Given the description of an element on the screen output the (x, y) to click on. 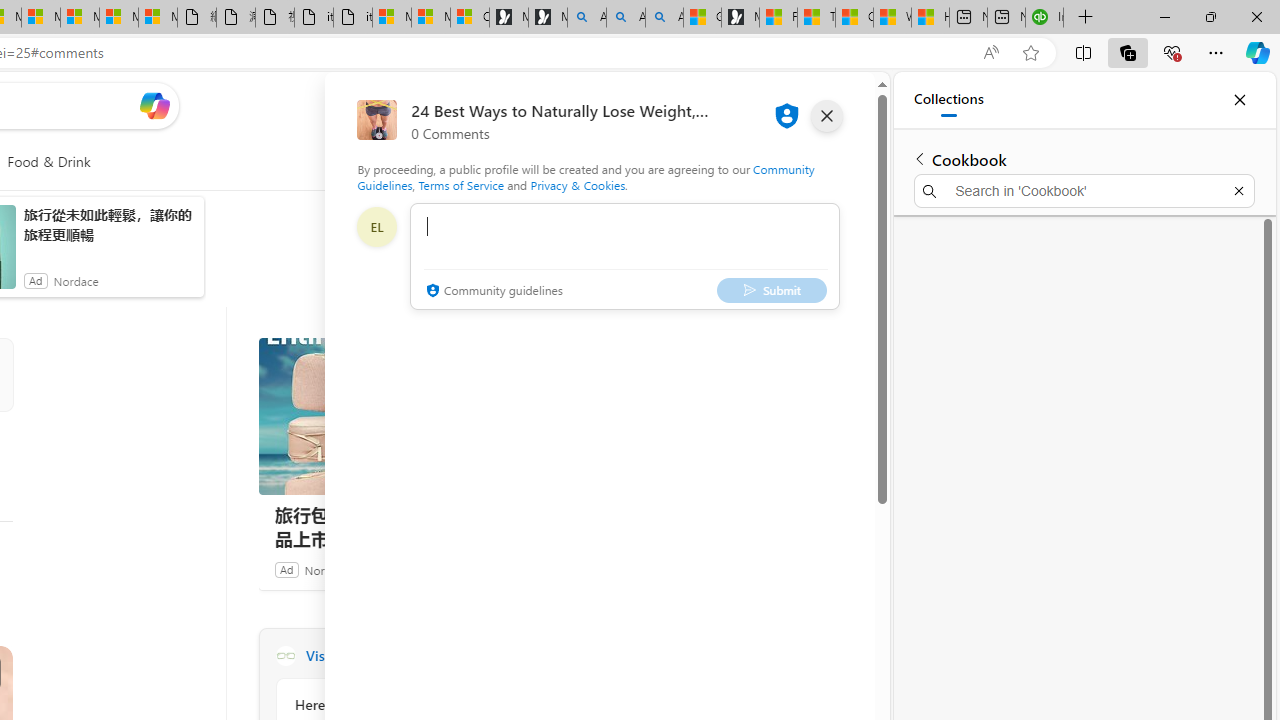
Search in 'Cookbook' (1084, 190)
Visit Wealth of Geeks website (532, 655)
Community guidelines (492, 291)
CNN - MSN (853, 17)
Back to list of collections (920, 158)
Wealth of Geeks (285, 655)
